Given the description of an element on the screen output the (x, y) to click on. 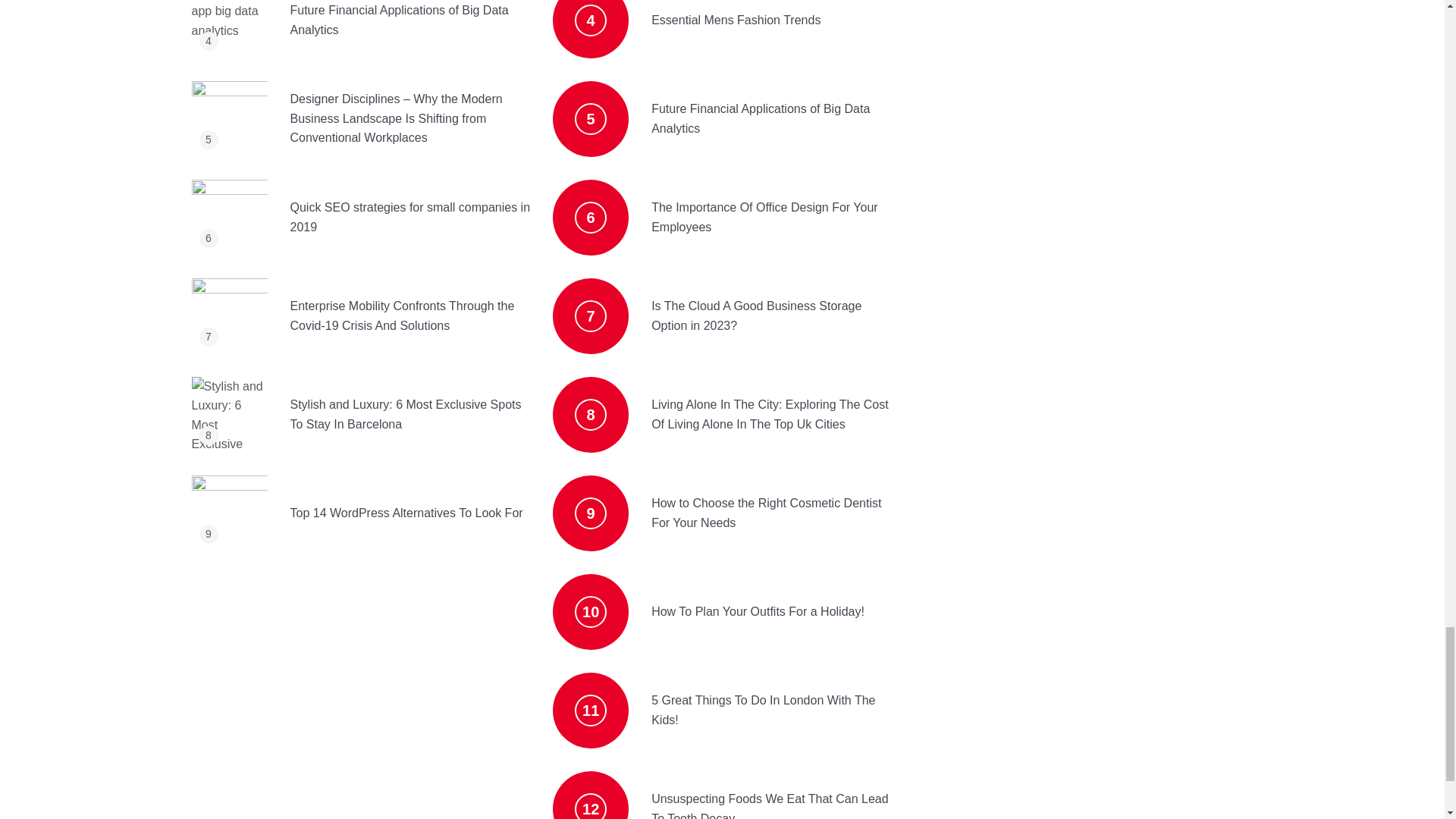
Future Financial Applications of Big Data Analytics (397, 19)
Top 14 WordPress Alternatives To Look For (394, 513)
Quick SEO strategies for small companies in 2019 (397, 217)
